Given the description of an element on the screen output the (x, y) to click on. 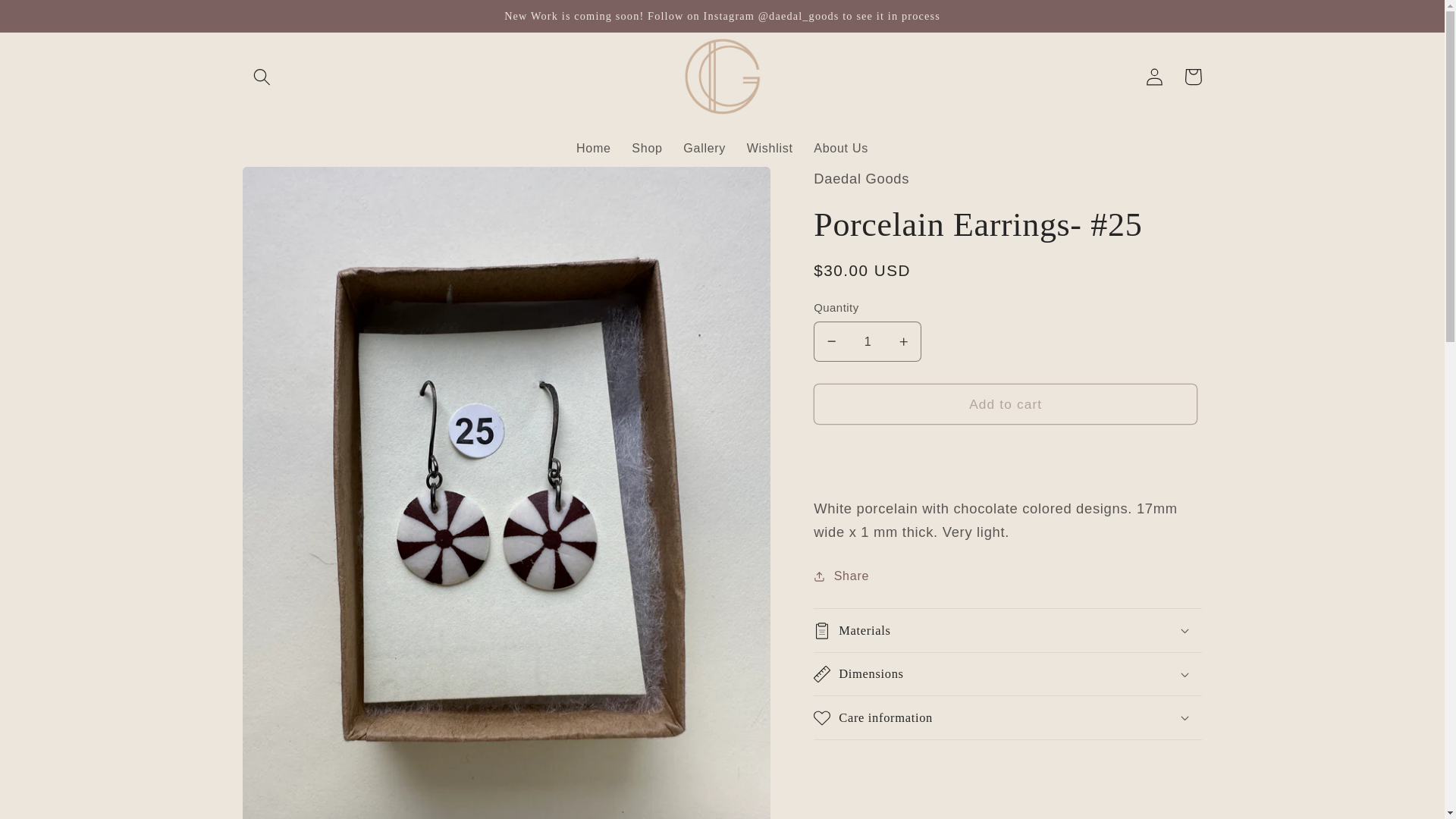
1 (867, 341)
Gallery (703, 148)
Add to cart (1004, 404)
Log in (1154, 76)
Cart (1192, 76)
Wishlist (769, 148)
About Us (840, 148)
Skip to content (52, 20)
Shop (646, 148)
Skip to product information (294, 186)
Home (593, 148)
